Given the description of an element on the screen output the (x, y) to click on. 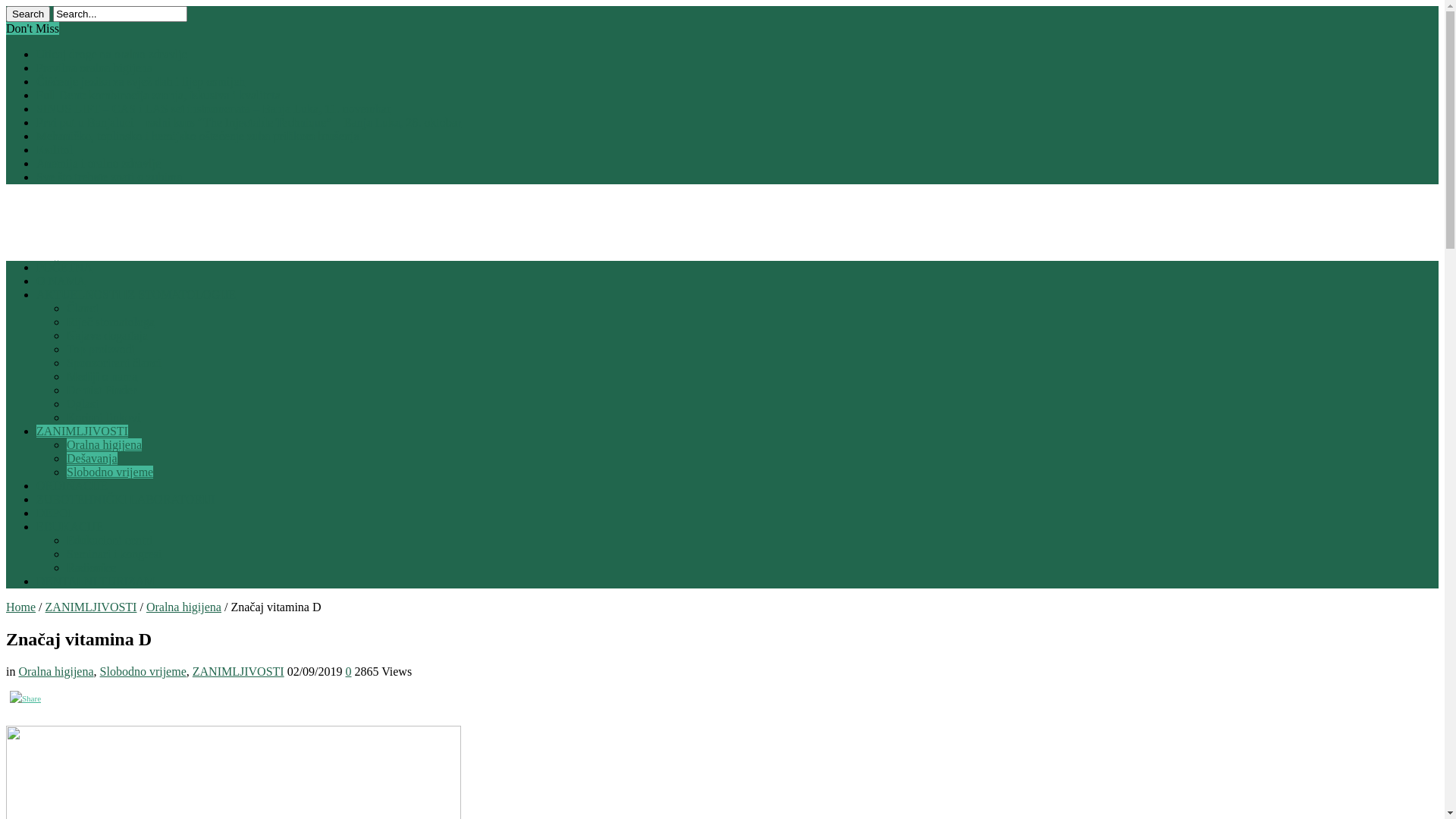
Uticaj droge na oralno zdravlje Element type: text (111, 53)
Seminari i kongresi Element type: text (113, 553)
ZANIMLJIVOSTI Element type: text (82, 430)
DEPOI Element type: text (54, 512)
DENTALNI TURIZAM Element type: text (95, 580)
Edukacioni centri Element type: text (109, 539)
O NAMA Element type: text (60, 280)
0 Element type: text (348, 671)
Korisni linkovi Element type: text (103, 417)
ORDINACIJE Element type: text (71, 485)
Anemija i oralno zdravlje Element type: text (98, 162)
ZANIMLJIVOSTI Element type: text (238, 671)
EDUKACIJE Element type: text (69, 526)
Oralna higijena Element type: text (103, 444)
Pravilna oralna higijena Element type: text (94, 67)
Oralna higijena Element type: text (55, 671)
Mediji o nama Element type: text (101, 376)
Full Dent: kombinacija znanja, iskustva i kvaliteta Element type: text (158, 94)
Slobodno vrijeme Element type: text (109, 471)
Dentist Finder Element type: text (101, 389)
Home Element type: text (20, 606)
Oglasi Element type: text (82, 403)
Slobodno vrijeme Element type: text (143, 671)
Radionice Element type: text (91, 567)
ZANIMLJIVOSTI Element type: text (91, 606)
Ksilitol Element type: text (54, 149)
AKTUELNOSTI IZ STOMATOLOGIJE Element type: text (135, 294)
Search Element type: text (28, 13)
Top proizvodi Element type: text (100, 348)
Oralna higijena Element type: text (183, 606)
